Given the description of an element on the screen output the (x, y) to click on. 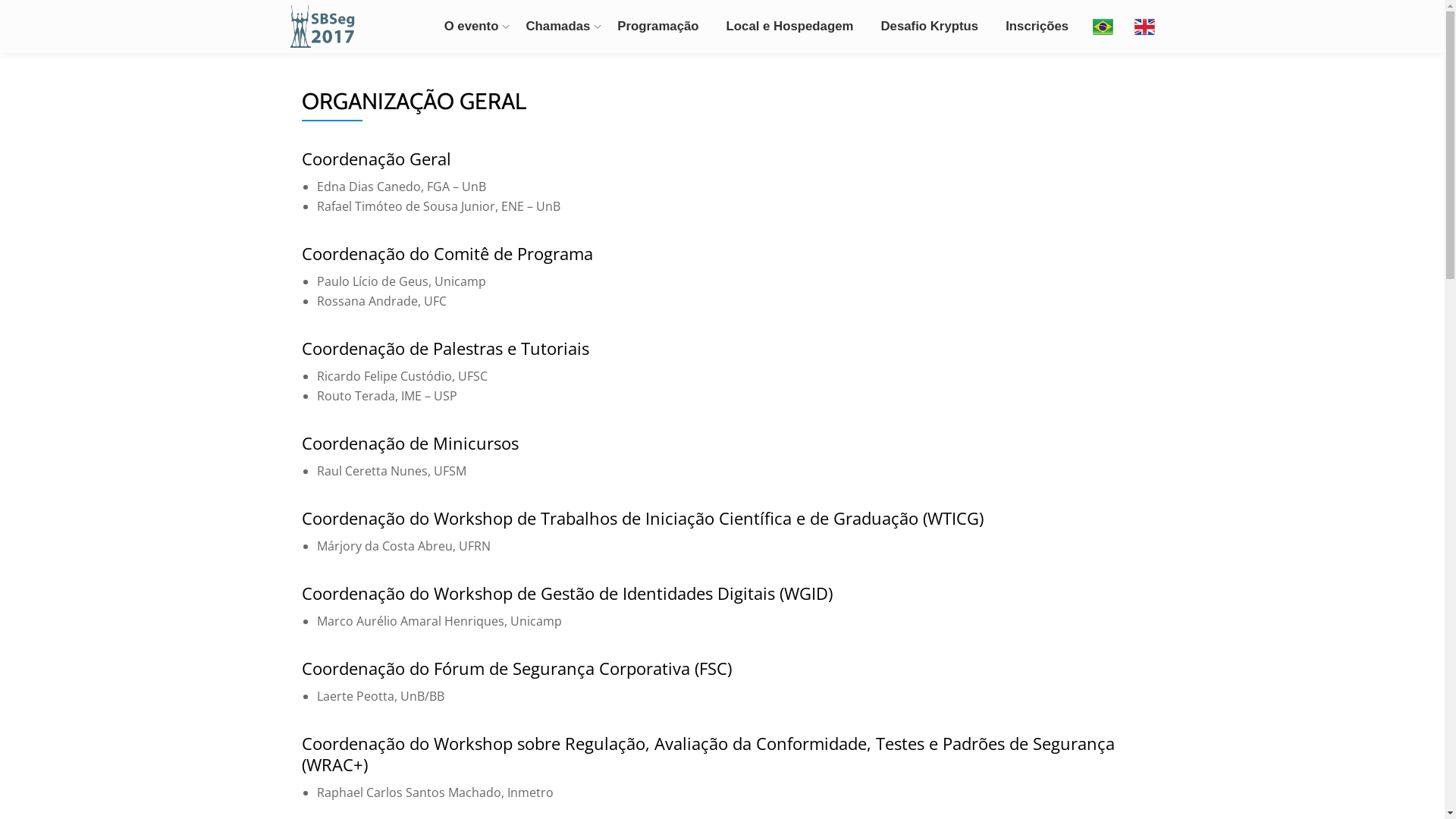
Desafio Kryptus Element type: text (929, 26)
SBSeg2017 Element type: hover (324, 26)
O evento Element type: text (471, 26)
     Element type: text (1102, 26)
Local e Hospedagem Element type: text (789, 26)
     Element type: text (1144, 26)
Chamadas Element type: text (557, 26)
